Given the description of an element on the screen output the (x, y) to click on. 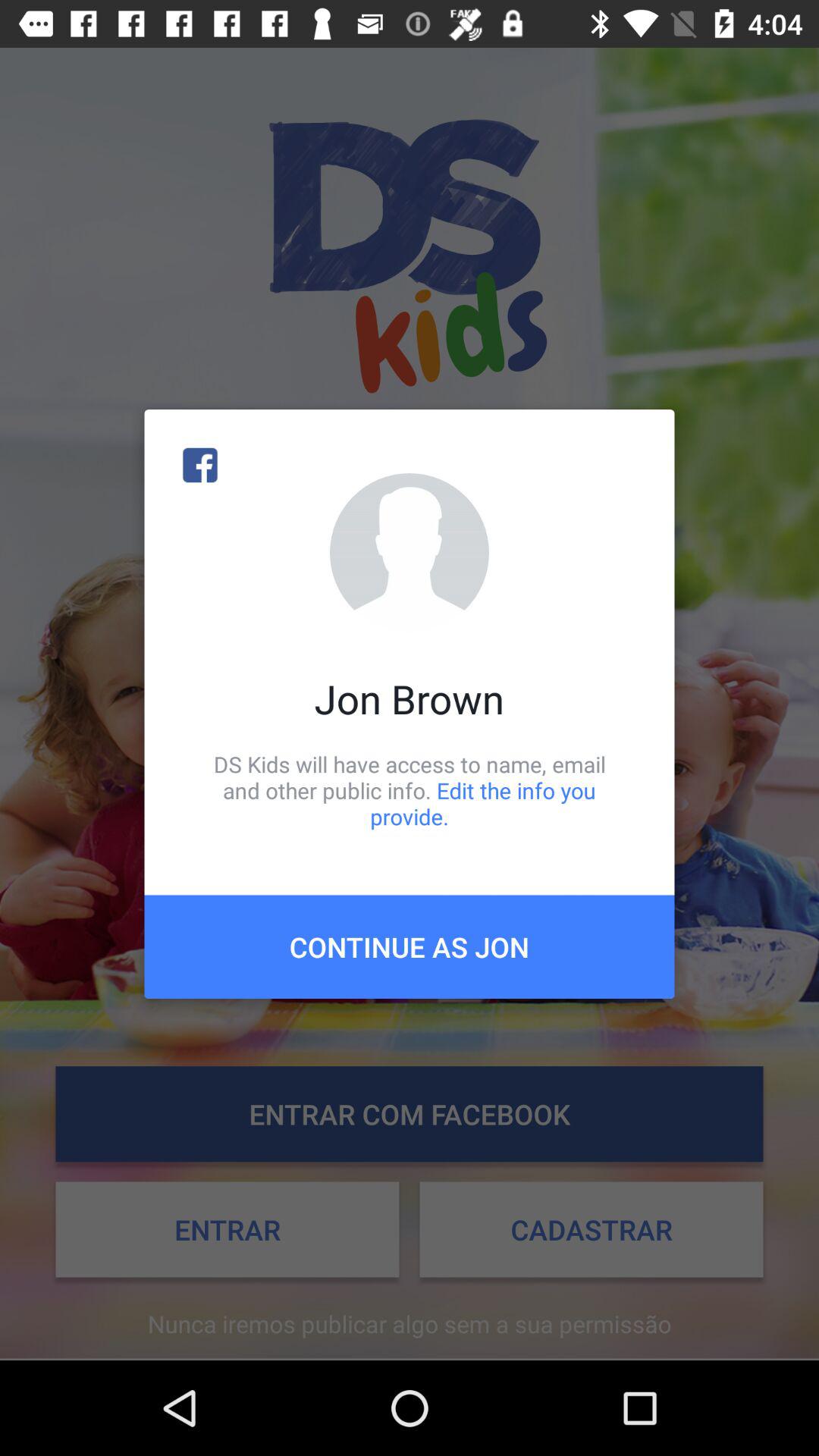
tap item below the ds kids will icon (409, 946)
